Given the description of an element on the screen output the (x, y) to click on. 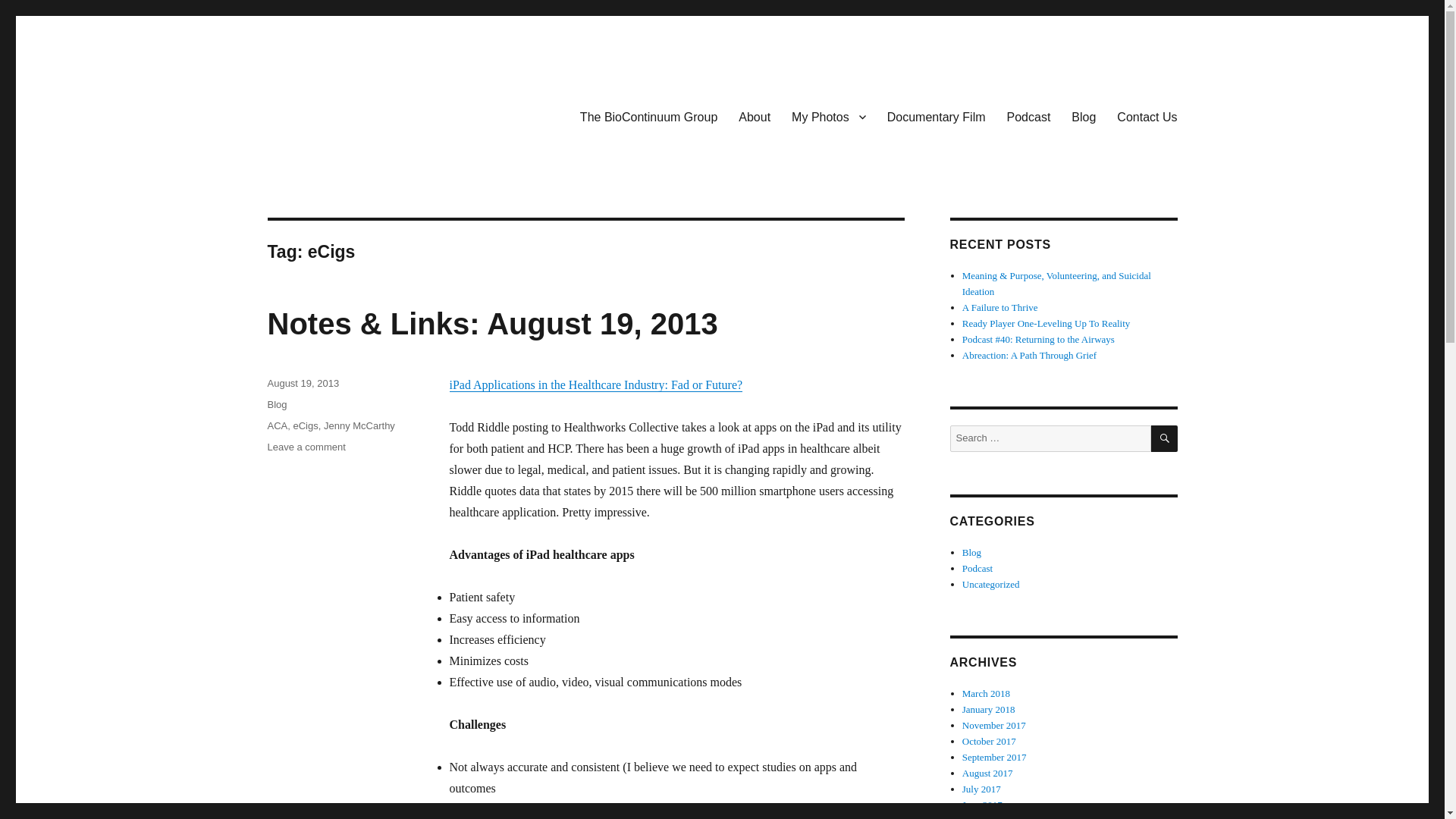
Abreaction: A Path Through Grief (1029, 355)
August 19, 2013 (302, 383)
ACA (276, 425)
November 2017 (994, 725)
eCigs (304, 425)
My Photos (828, 116)
Blog (276, 404)
iPad Applications in the Healthcare Industry: Fad or Future? (595, 384)
Ready Player One-Leveling Up To Reality (1046, 323)
Podcast (1028, 116)
Jenny McCarthy (358, 425)
The BioContinuum Group (395, 114)
About (754, 116)
The BioContinuum Group (648, 116)
October 2017 (989, 740)
